Given the description of an element on the screen output the (x, y) to click on. 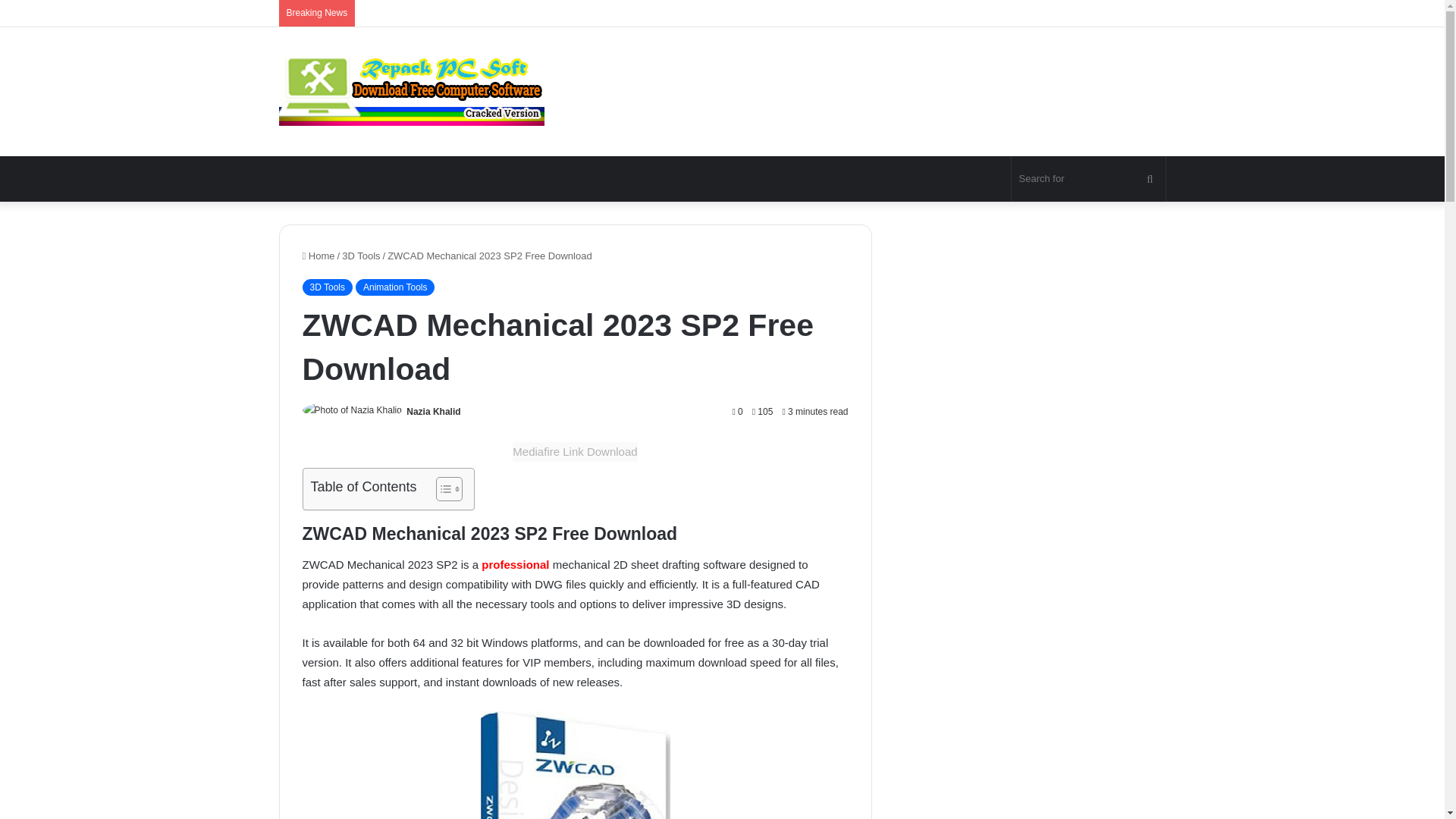
Mediafire Link Download (574, 451)
Nazia Khalid (433, 411)
3D Tools (326, 287)
Nazia Khalid (433, 411)
Home (317, 255)
Animation Tools (395, 287)
Latest Software Pre Activated - Cracked Free Download (411, 91)
ZWCAD Mechanical 2023 SP2 Free Download (574, 765)
professional (513, 563)
3D Tools (361, 255)
